Given the description of an element on the screen output the (x, y) to click on. 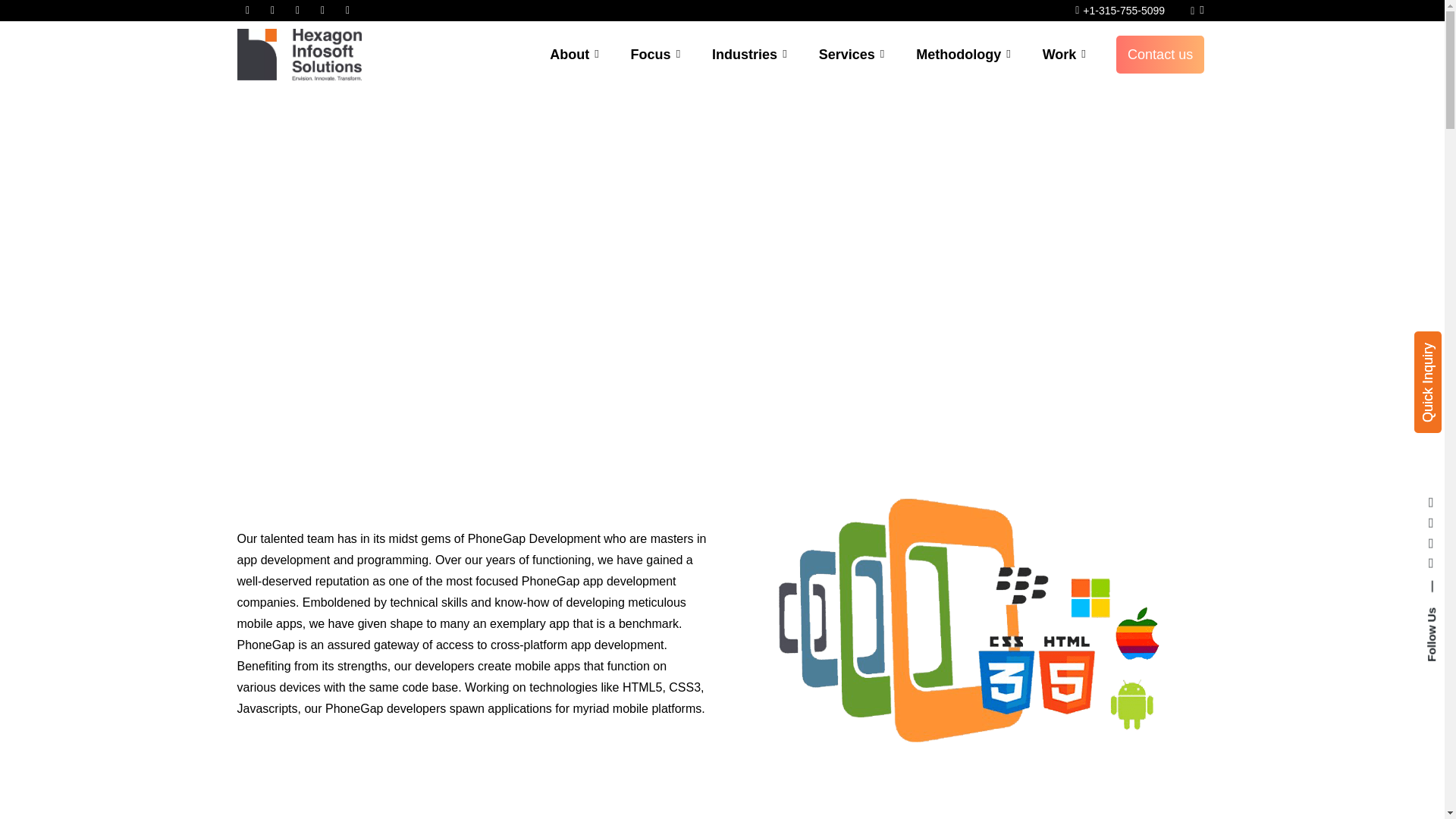
Call Us (1197, 10)
About (574, 54)
Focus (655, 54)
